Given the description of an element on the screen output the (x, y) to click on. 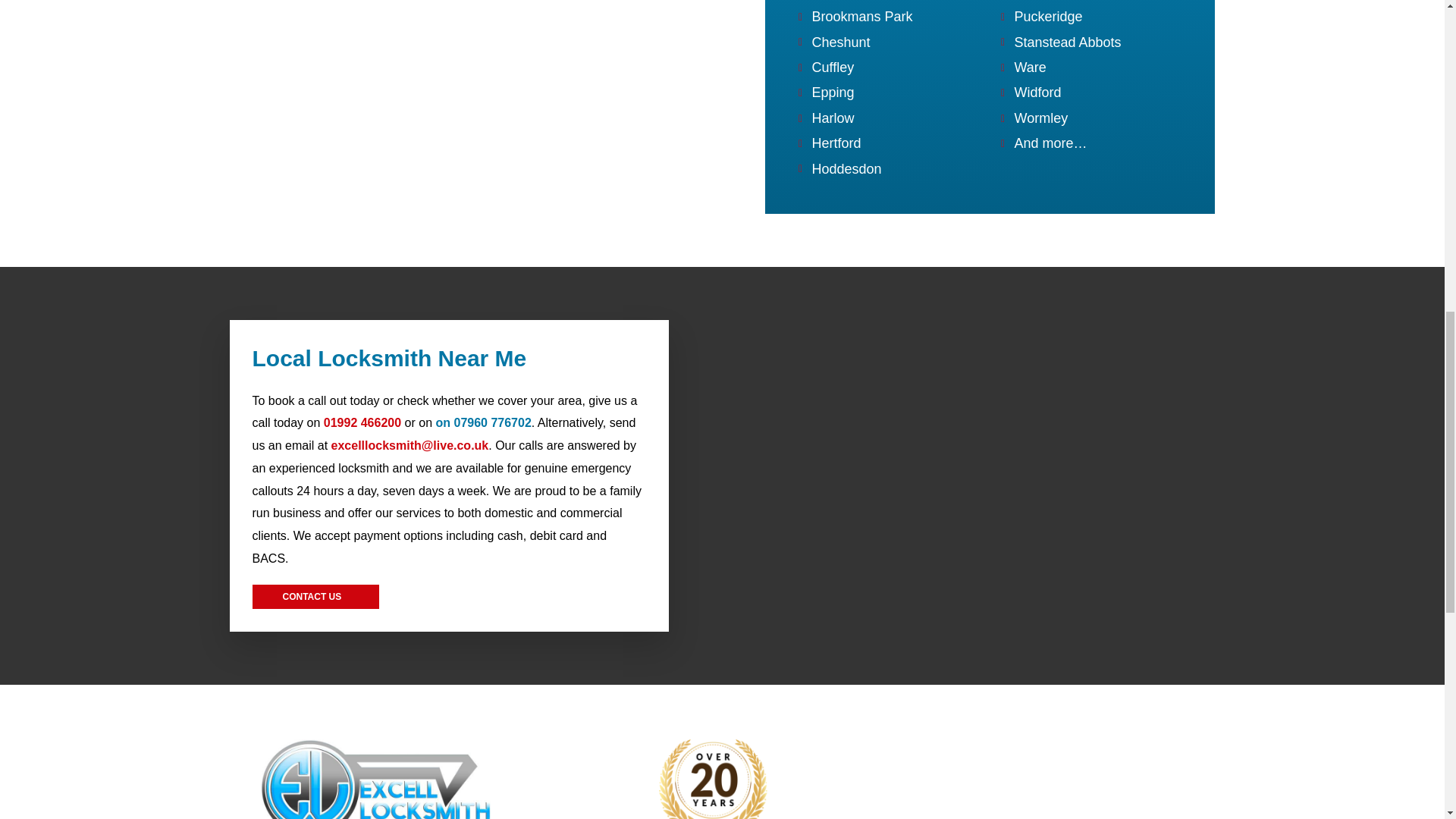
Excell Locksmith (496, 103)
